Given the description of an element on the screen output the (x, y) to click on. 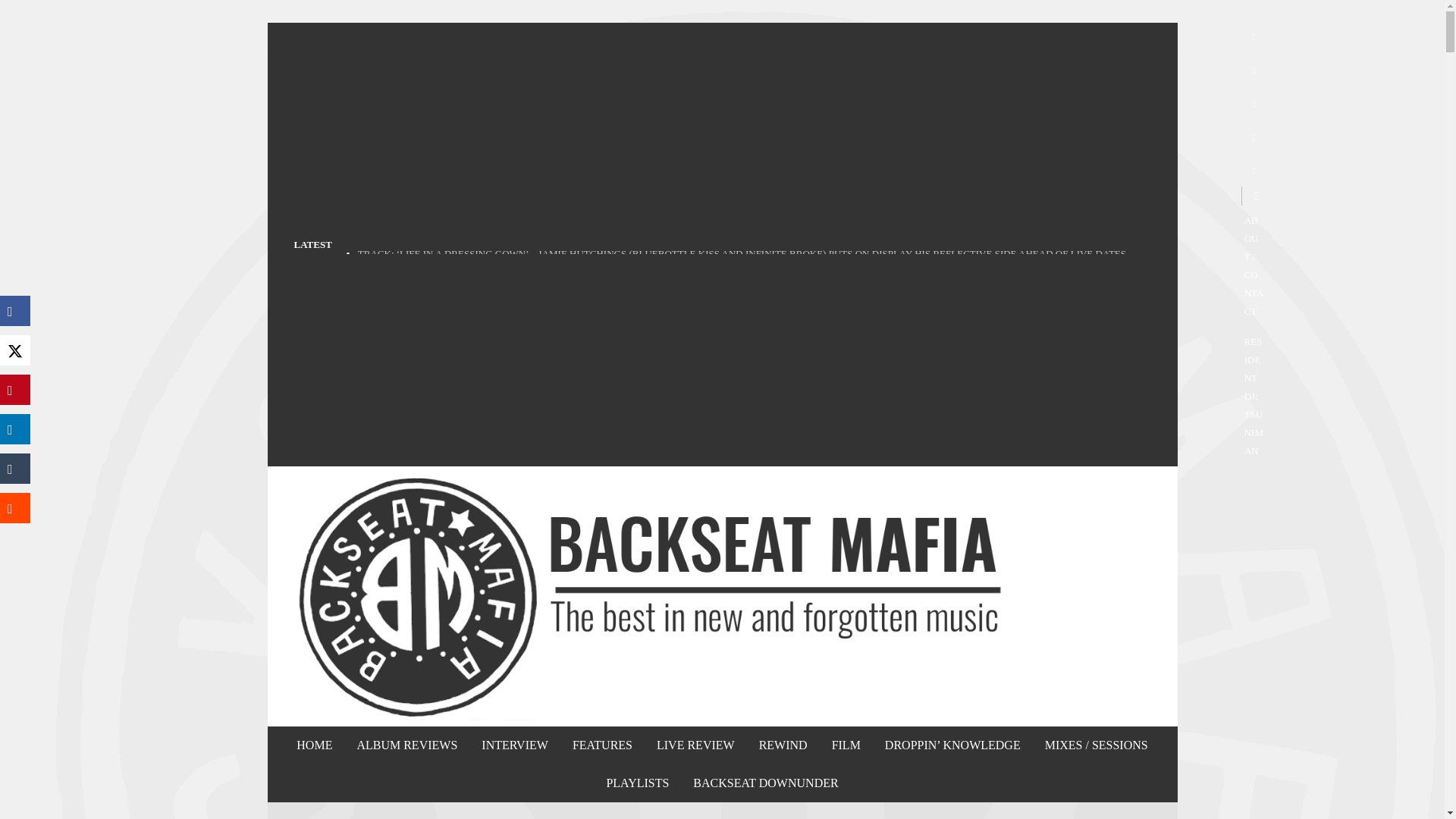
INTERVIEW (514, 745)
LIVE REVIEW (695, 745)
REWIND (782, 745)
PLAYLISTS (637, 783)
FILM (845, 745)
HOME (313, 745)
FEATURES (602, 745)
ALBUM REVIEWS (405, 745)
